Given the description of an element on the screen output the (x, y) to click on. 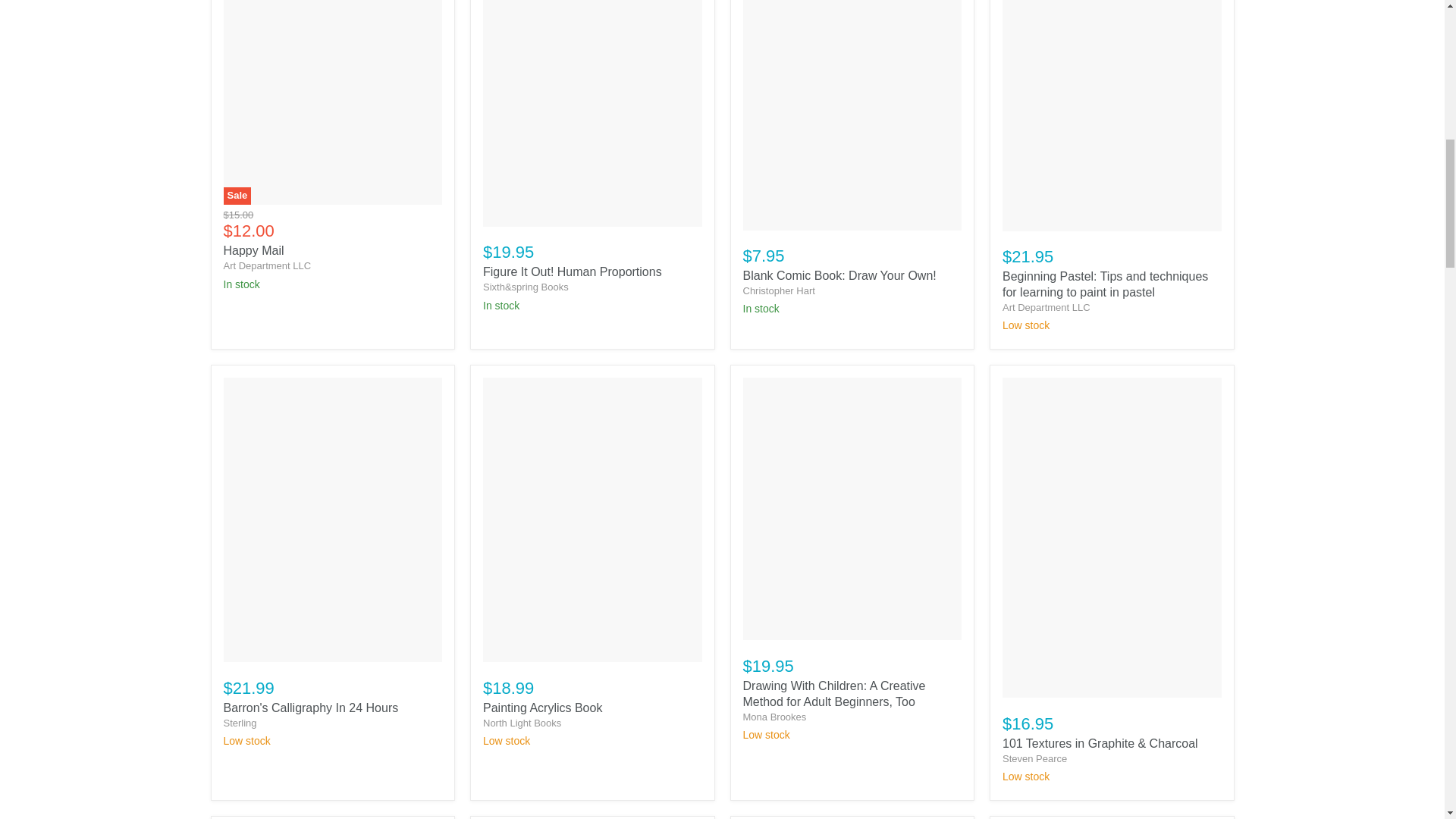
Art Department LLC (266, 265)
Steven Pearce (1035, 758)
North Light Books (521, 722)
Christopher Hart (778, 290)
Art Department LLC (1046, 307)
Mona Brookes (774, 716)
Sterling (239, 722)
